Given the description of an element on the screen output the (x, y) to click on. 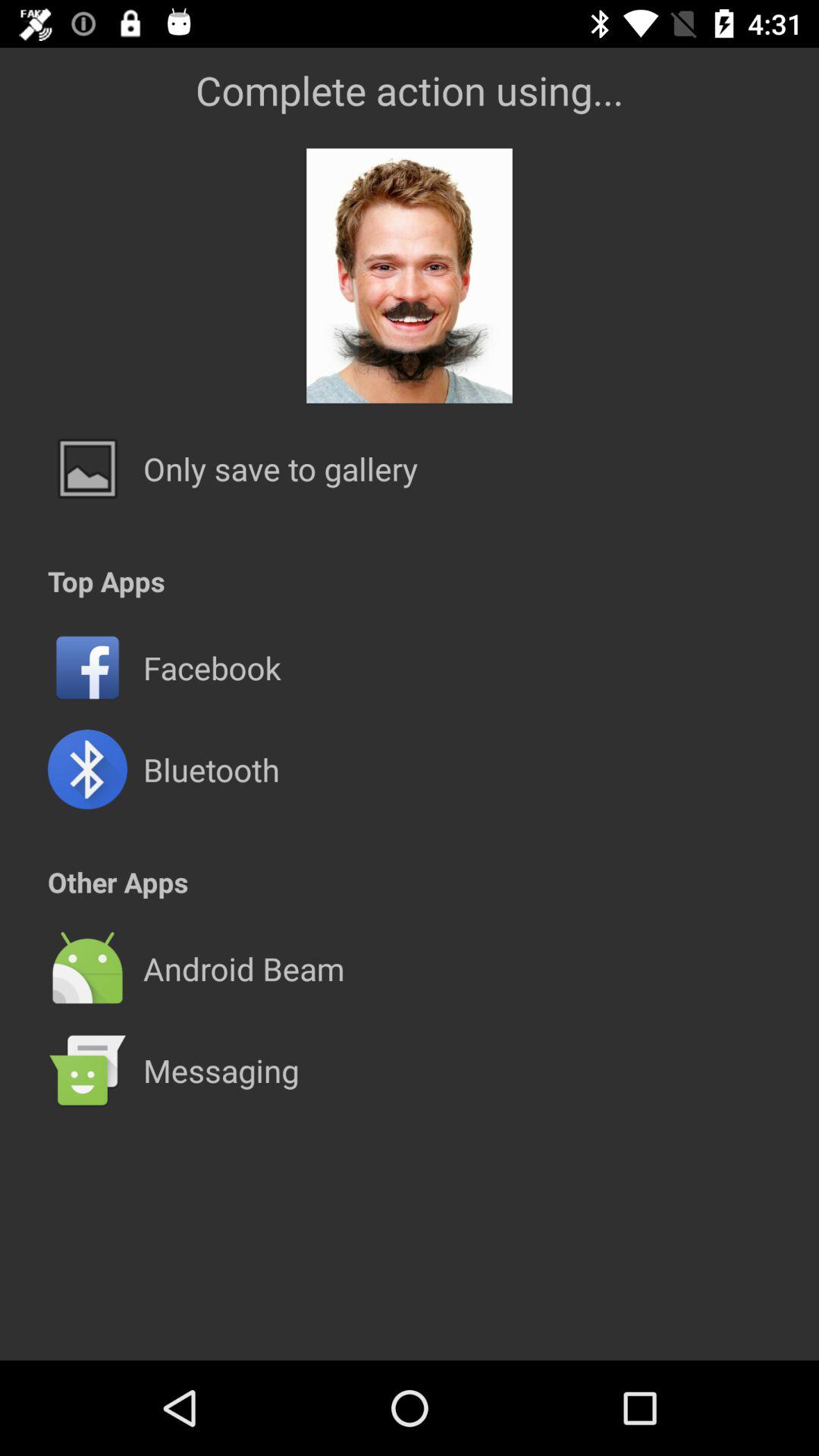
open item below top apps (409, 616)
